Given the description of an element on the screen output the (x, y) to click on. 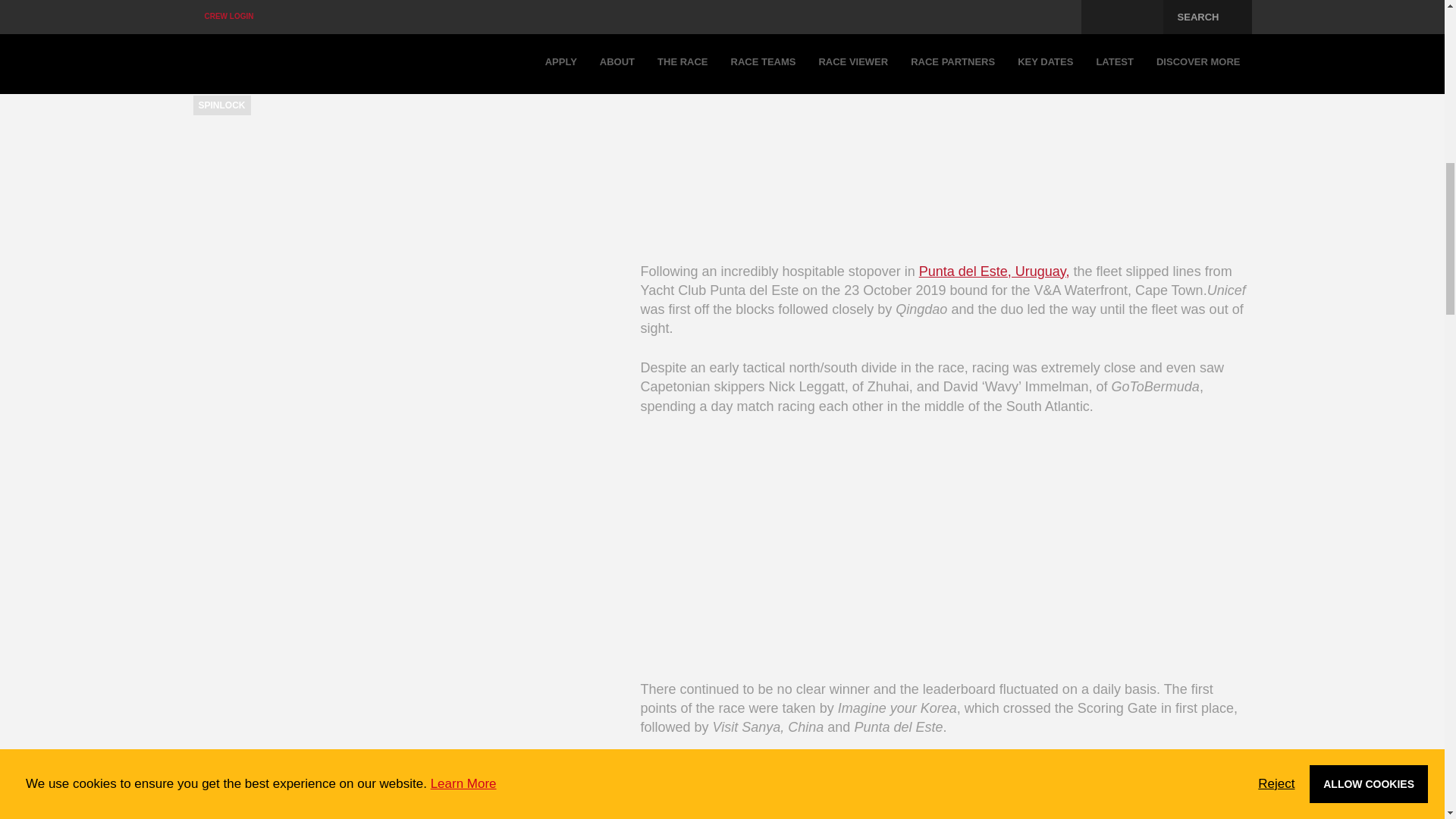
Share on Reddit (357, 13)
Share on Pinterest (292, 13)
Share on Twitter (233, 13)
Share on Facebook (201, 13)
Share on StumbleUpon (391, 13)
Share on LinkedIn (263, 13)
